Given the description of an element on the screen output the (x, y) to click on. 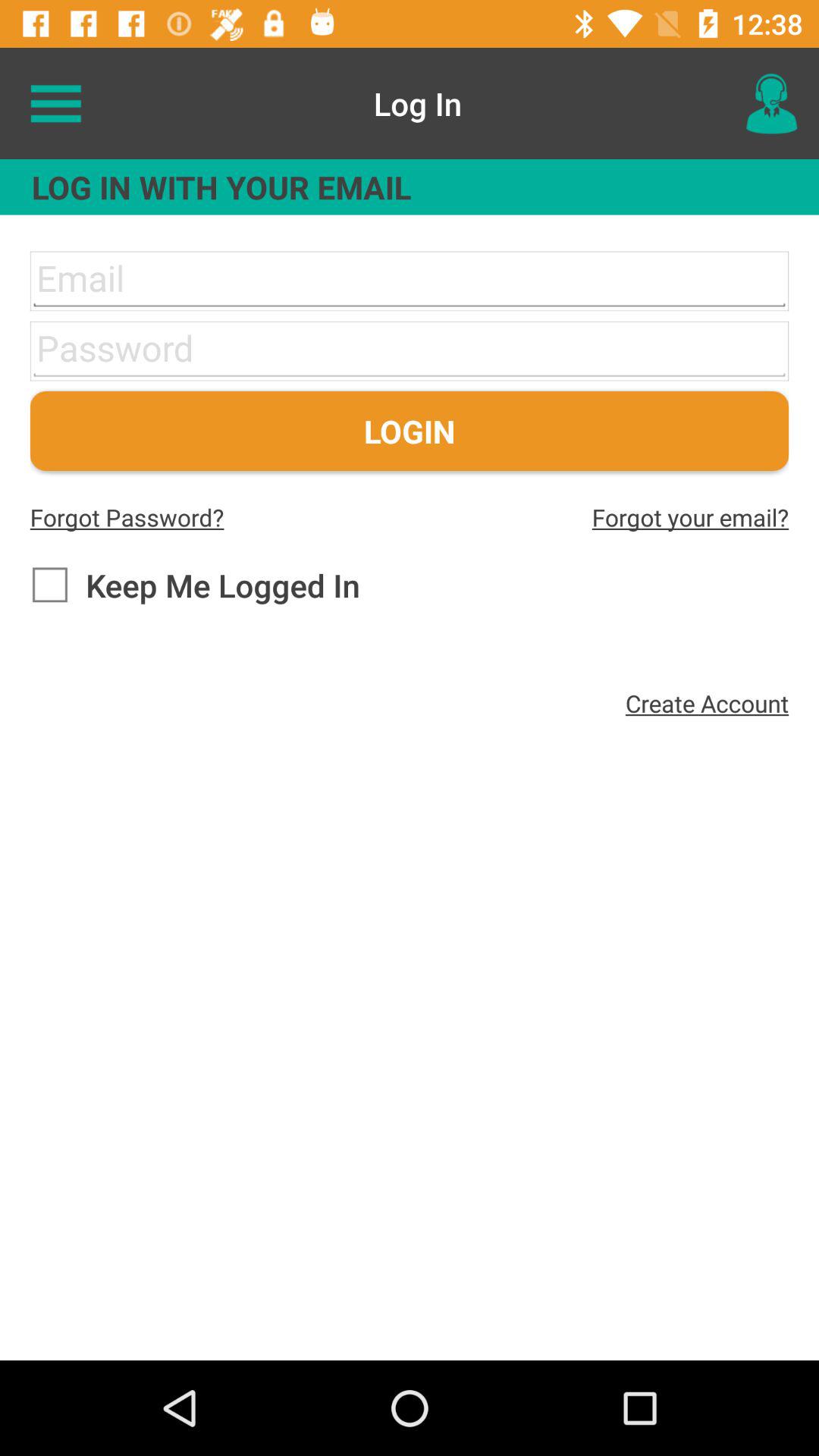
select icon at the top right corner (771, 103)
